Given the description of an element on the screen output the (x, y) to click on. 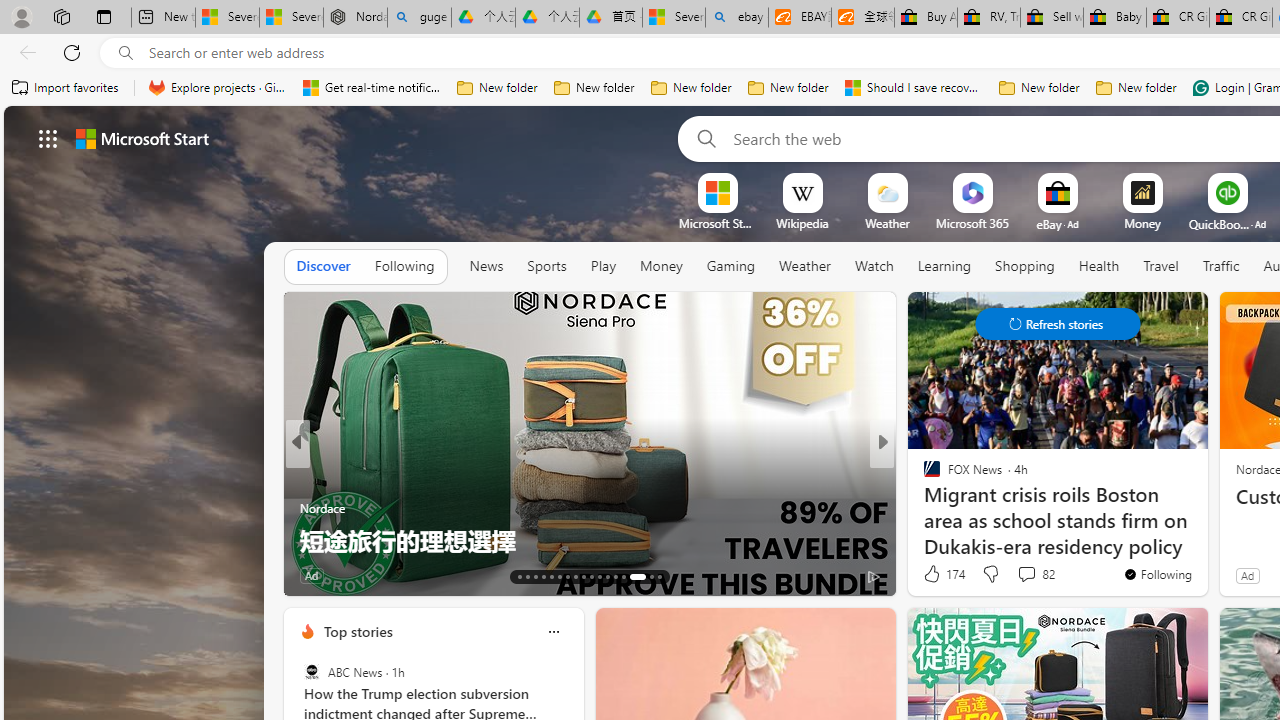
Class: icon-img (553, 632)
Baby Keepsakes & Announcements for sale | eBay (1114, 17)
Should I save recovered Word documents? - Microsoft Support (913, 88)
22 Like (317, 574)
AutomationID: tab-27 (631, 576)
Dislike (989, 574)
The Atlantic (923, 507)
Learning (944, 265)
Don't trust AI for these 4 things (589, 539)
Wikipedia (802, 223)
Import favorites (65, 88)
Health (1098, 267)
Ad Choice (264, 575)
AutomationID: tab-21 (582, 576)
